Given the description of an element on the screen output the (x, y) to click on. 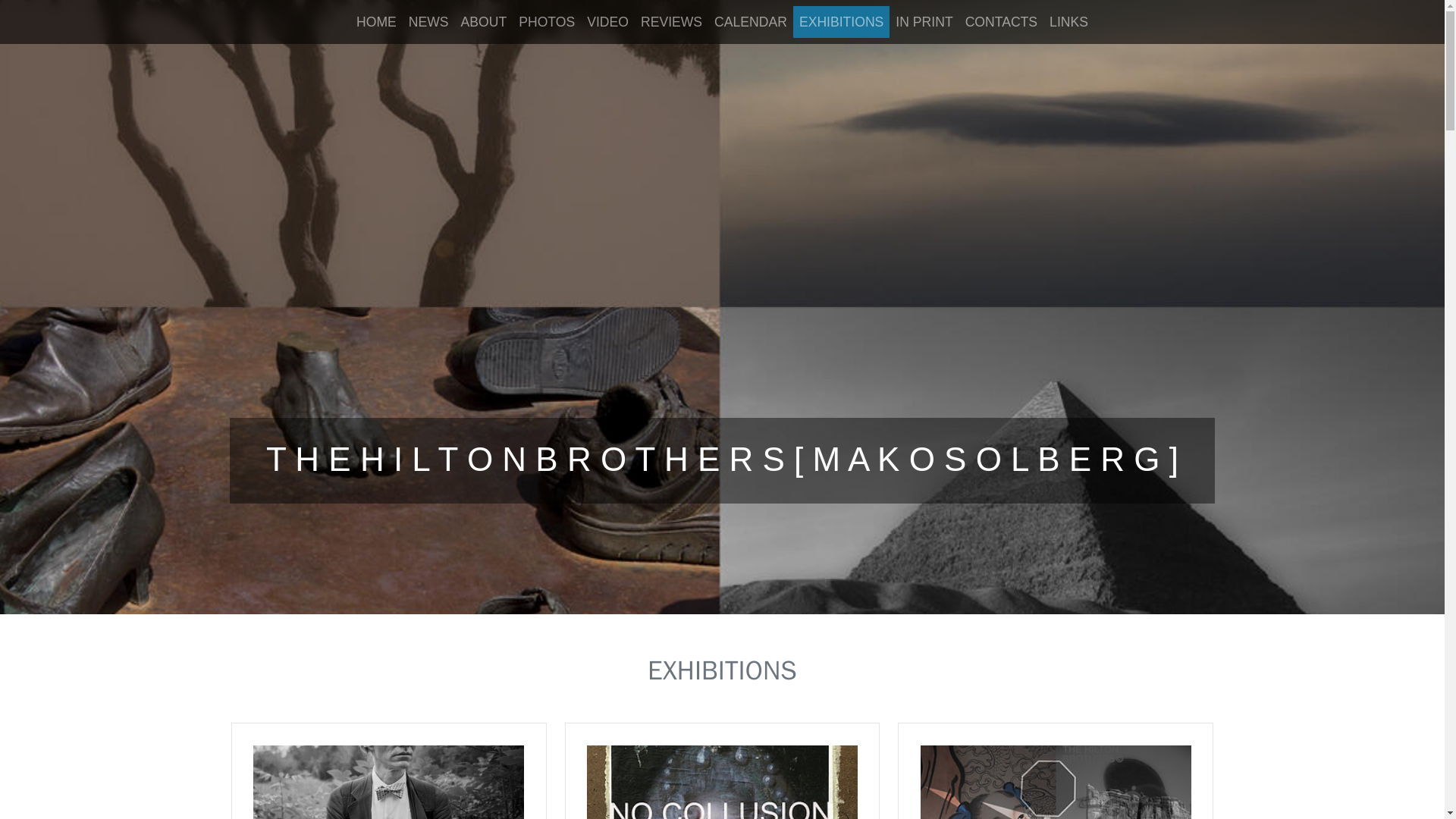
EXHIBITIONS (841, 21)
IN PRINT (923, 21)
LINKS (1068, 21)
HOME (376, 21)
PHOTOS (546, 21)
CALENDAR (750, 21)
VIDEO (607, 21)
REVIEWS (670, 21)
NEWS (428, 21)
ABOUT (483, 21)
CONTACTS (1001, 21)
